Given the description of an element on the screen output the (x, y) to click on. 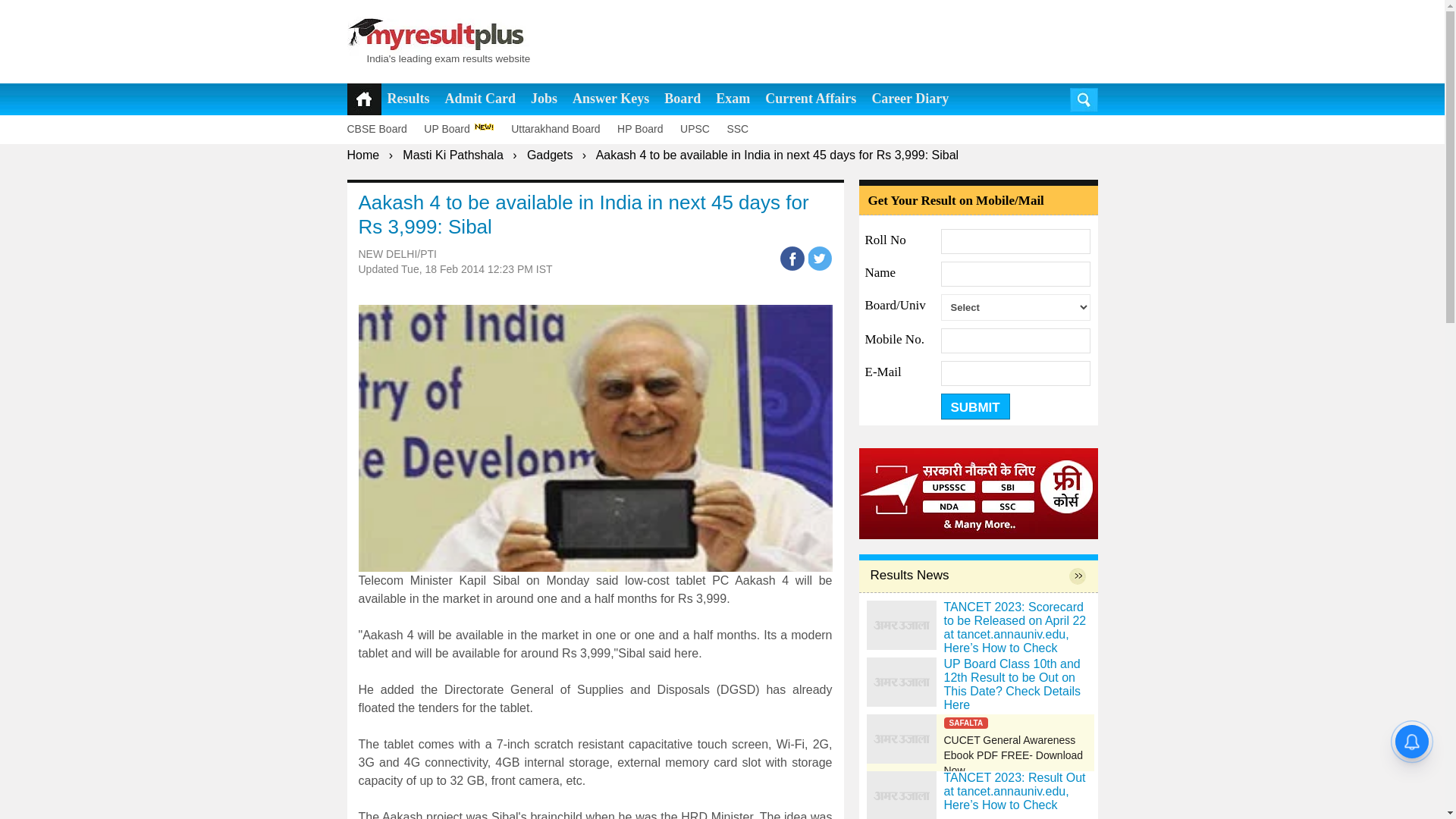
Career Diary (909, 98)
Results (407, 98)
Submit (974, 406)
Masti Ki Pathshala (453, 155)
Current Affairs (809, 98)
Exam (732, 98)
CBSE Board (383, 128)
Answer Keys (610, 98)
HP Board (647, 128)
Uttarakhand Board (562, 128)
